Given the description of an element on the screen output the (x, y) to click on. 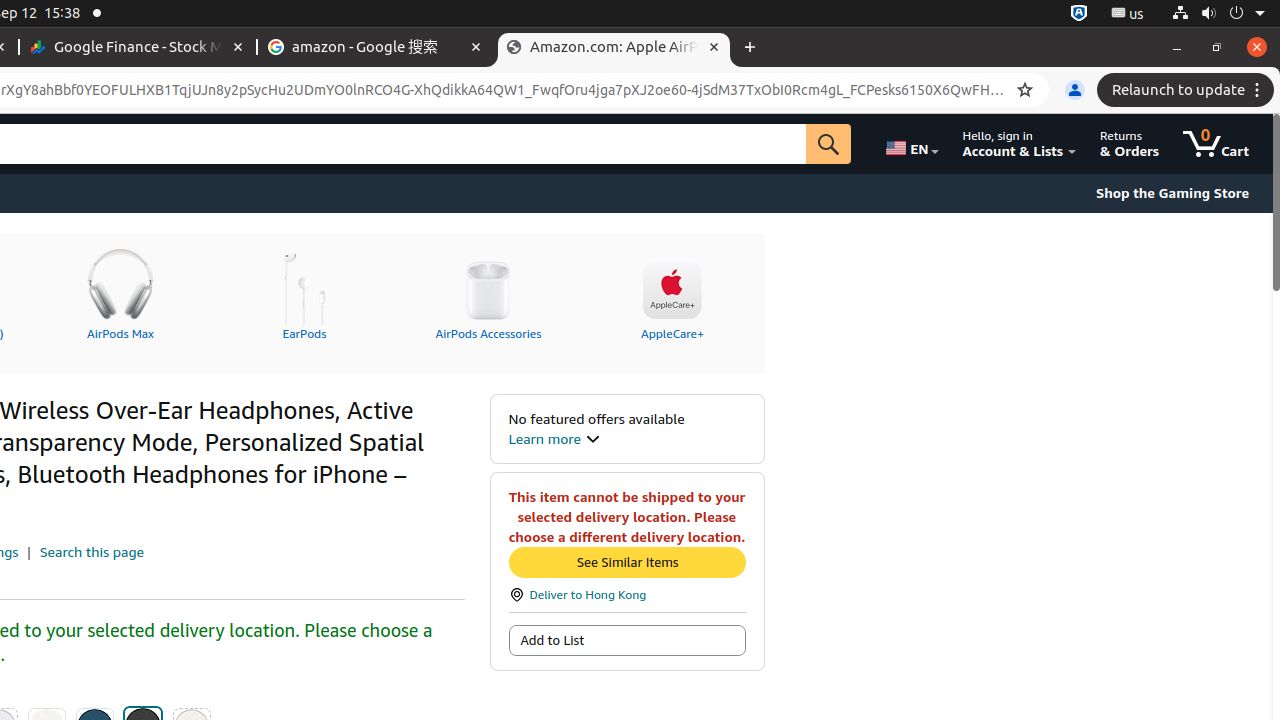
Bookmark this tab Element type: push-button (1025, 90)
:1.21/StatusNotifierItem Element type: menu (1127, 13)
AppleCare+ Element type: link (672, 291)
Add to List Element type: radio-button (627, 640)
